Given the description of an element on the screen output the (x, y) to click on. 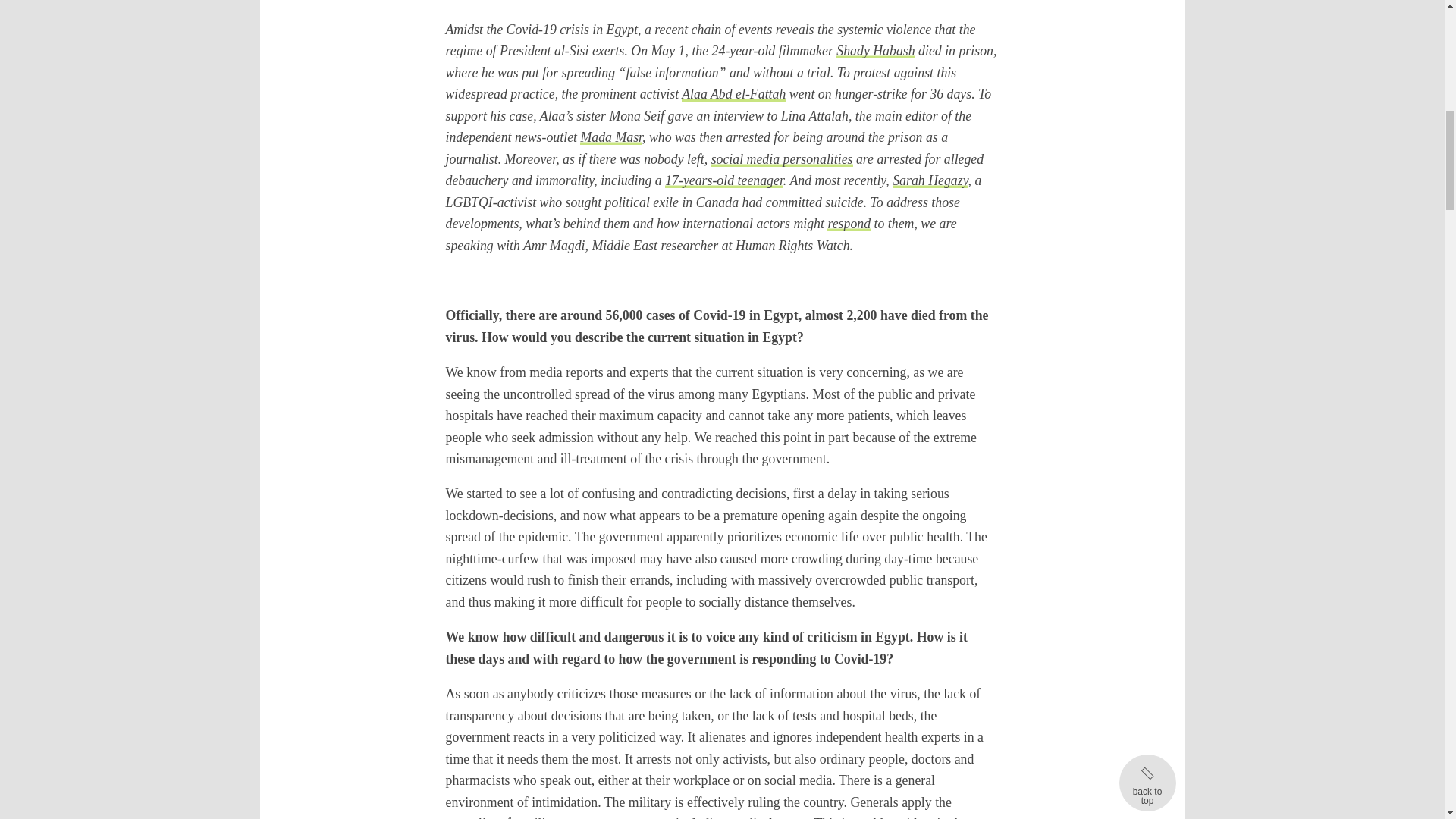
Alaa Abd el-Fattah (733, 93)
Shady Habash (874, 50)
respond (848, 223)
17-years-old teenager (724, 180)
social media personalities (782, 159)
Mada Masr (610, 136)
